Given the description of an element on the screen output the (x, y) to click on. 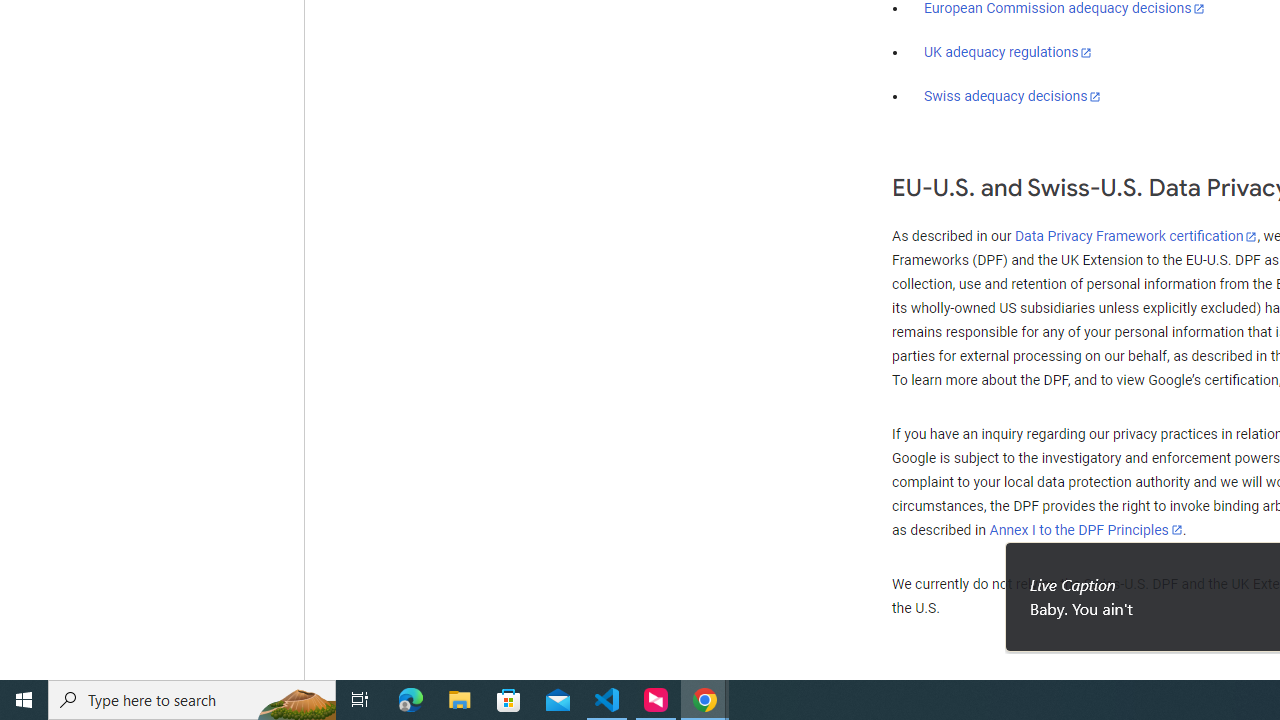
Annex I to the DPF Principles (1085, 530)
Data Privacy Framework certification (1135, 237)
European Commission adequacy decisions (1064, 9)
UK adequacy regulations (1008, 52)
Swiss adequacy decisions (1013, 96)
